Given the description of an element on the screen output the (x, y) to click on. 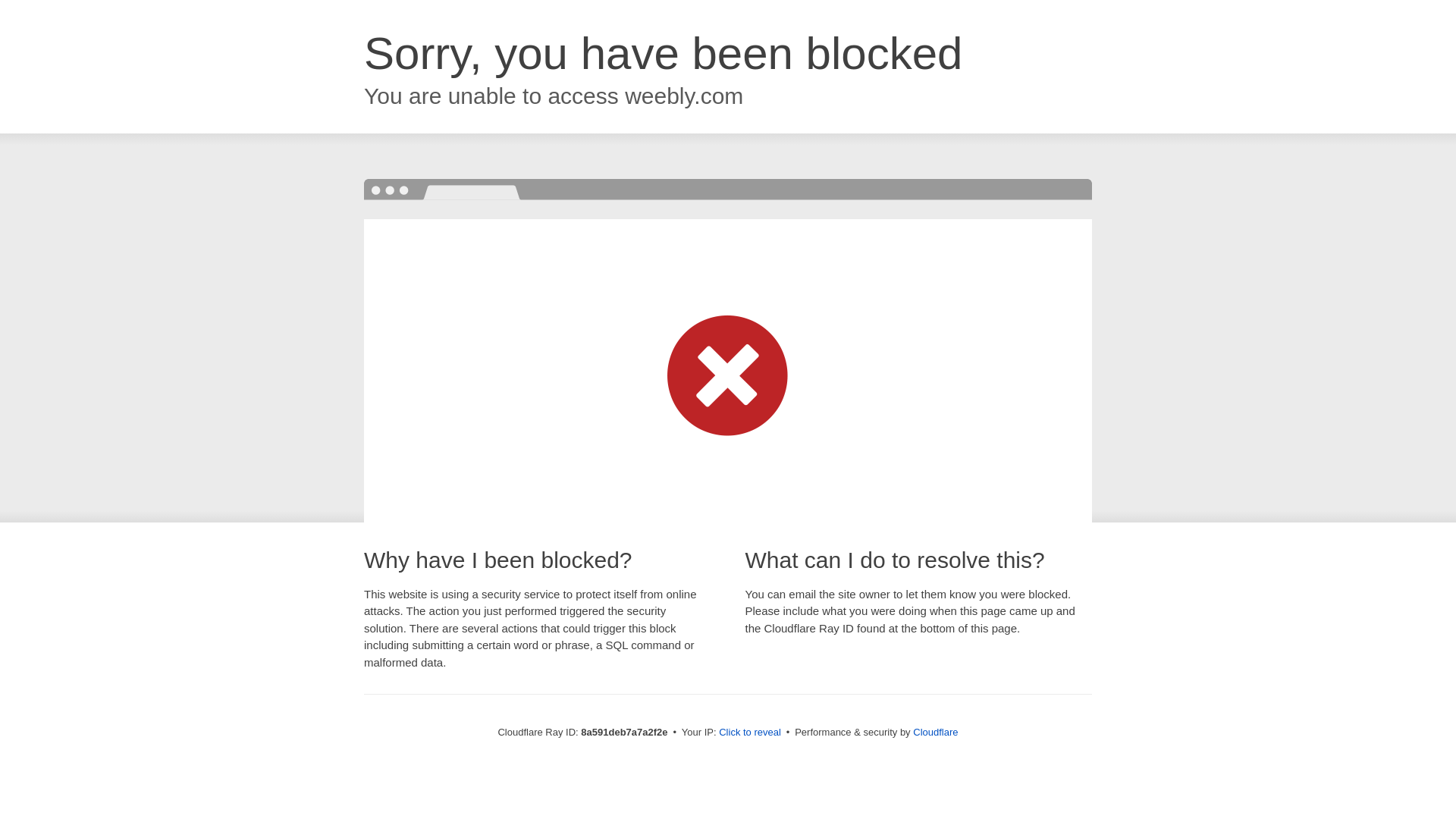
Click to reveal (749, 732)
Cloudflare (935, 731)
